Given the description of an element on the screen output the (x, y) to click on. 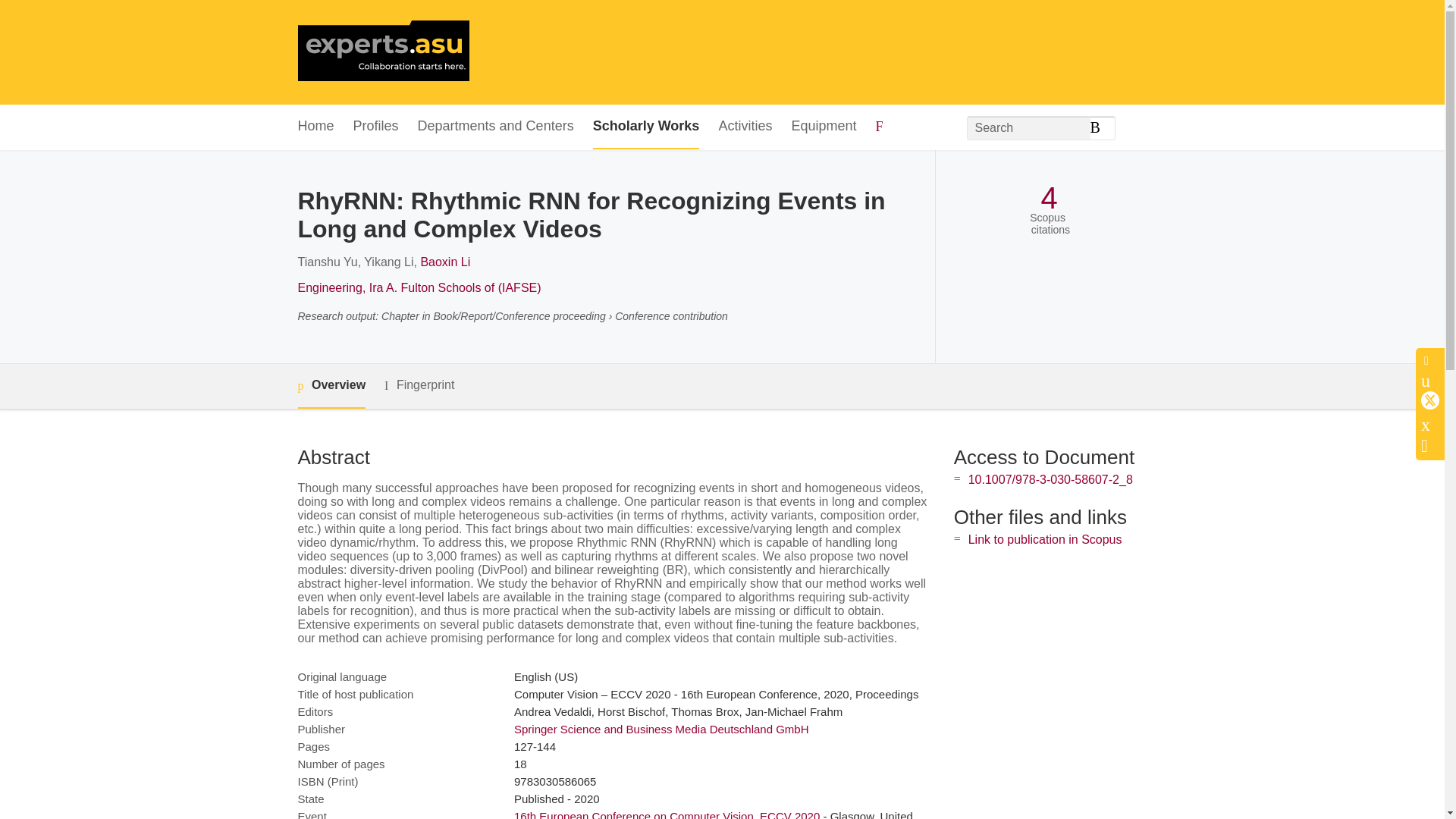
Link to publication in Scopus (1045, 539)
Equipment (823, 126)
Baoxin Li (445, 261)
Scholarly Works (646, 126)
Overview (331, 385)
Departments and Centers (495, 126)
Arizona State University Home (382, 52)
16th European Conference on Computer Vision, ECCV 2020 (666, 814)
Activities (744, 126)
